Given the description of an element on the screen output the (x, y) to click on. 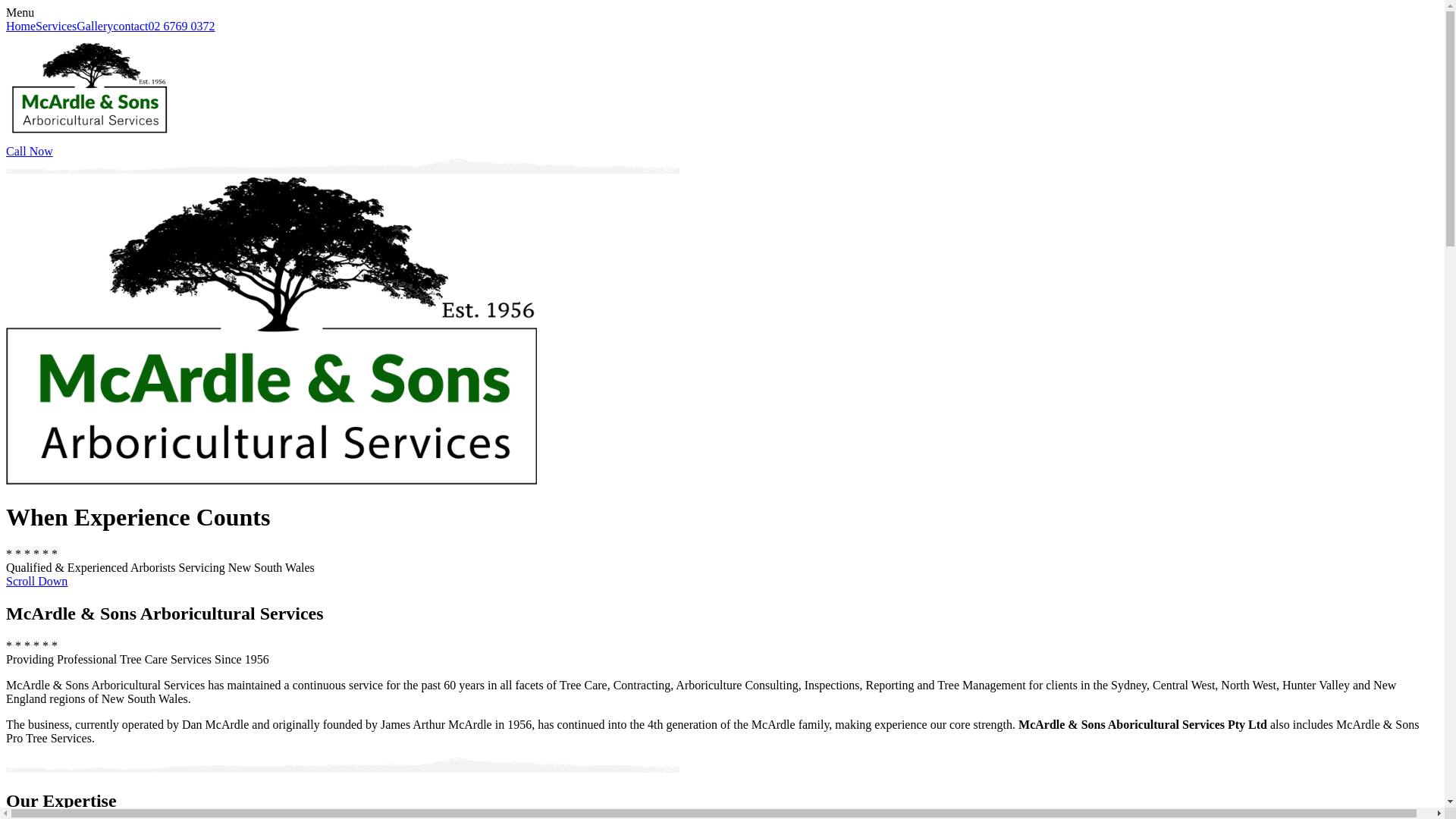
Call Now Element type: text (722, 151)
Home Element type: text (20, 25)
Gallery Element type: text (94, 25)
Services Element type: text (55, 25)
contact Element type: text (129, 25)
02 6769 0372 Element type: text (181, 25)
Scroll Down Element type: text (722, 581)
